Given the description of an element on the screen output the (x, y) to click on. 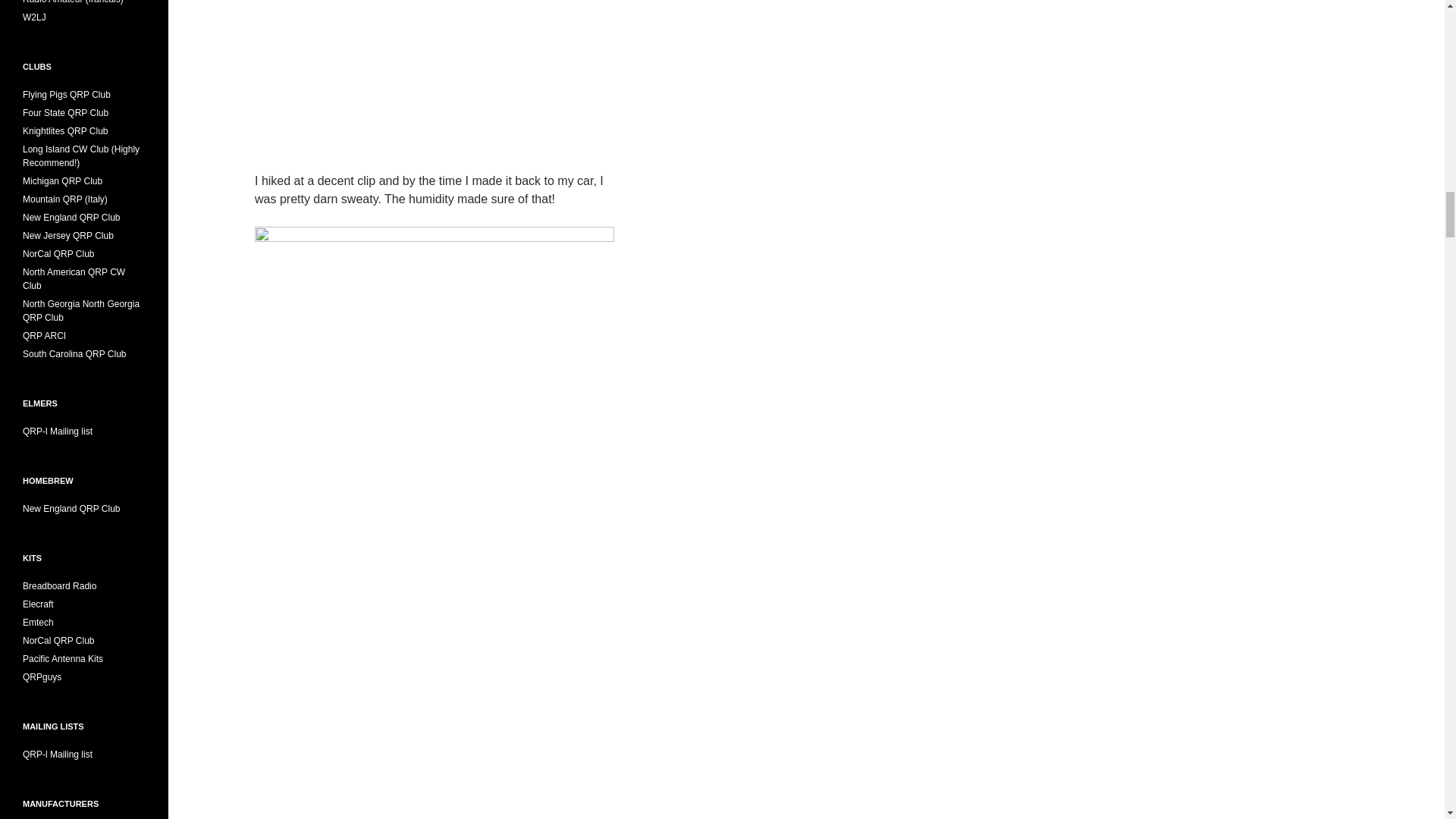
The 4 State QRP Club (65, 112)
The New Jersey QRP Club website (68, 235)
